Given the description of an element on the screen output the (x, y) to click on. 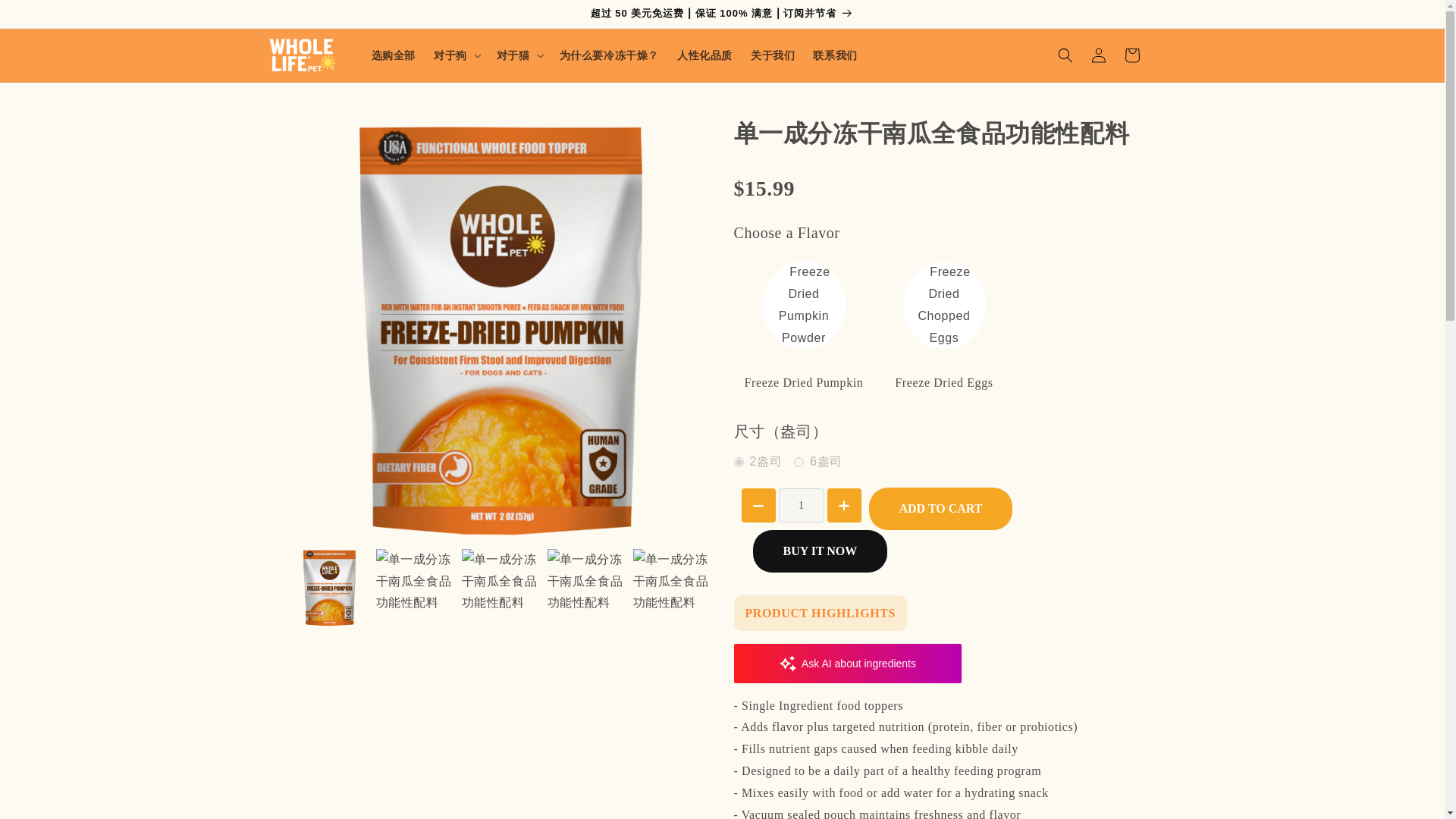
Freeze Dried Chopped Eggs (943, 304)
Freeze Dried Pumpkin Powder (803, 304)
1 (800, 505)
